Given the description of an element on the screen output the (x, y) to click on. 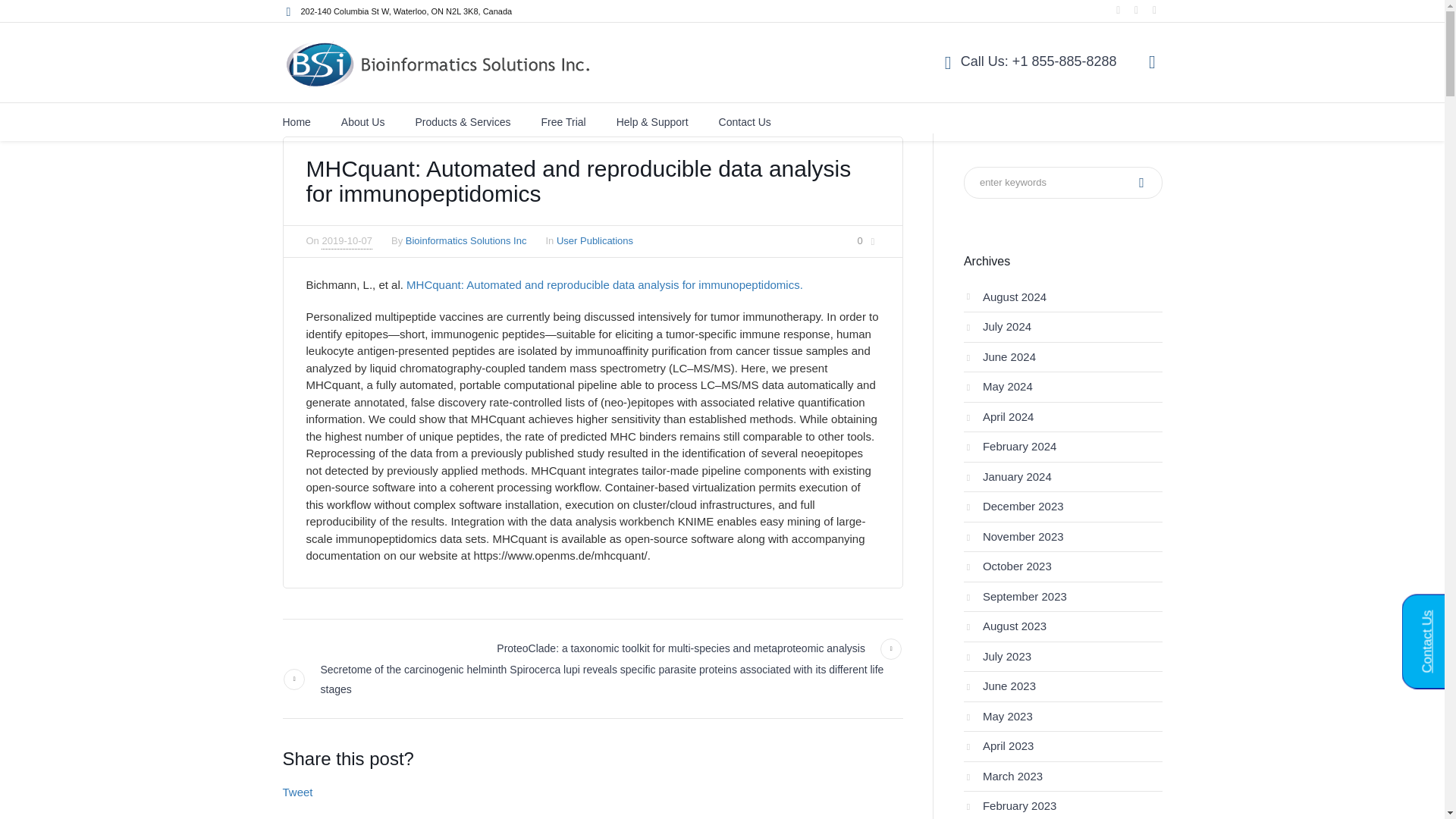
Twitter (1155, 9)
LinkedIn (1118, 9)
About Us (362, 121)
Posts by Bioinformatics Solutions Inc (466, 240)
2019-10-07 (346, 241)
Facebook (1136, 9)
202-140 Columbia St W, Waterloo, ON N2L 3K8, Canada (405, 10)
